Given the description of an element on the screen output the (x, y) to click on. 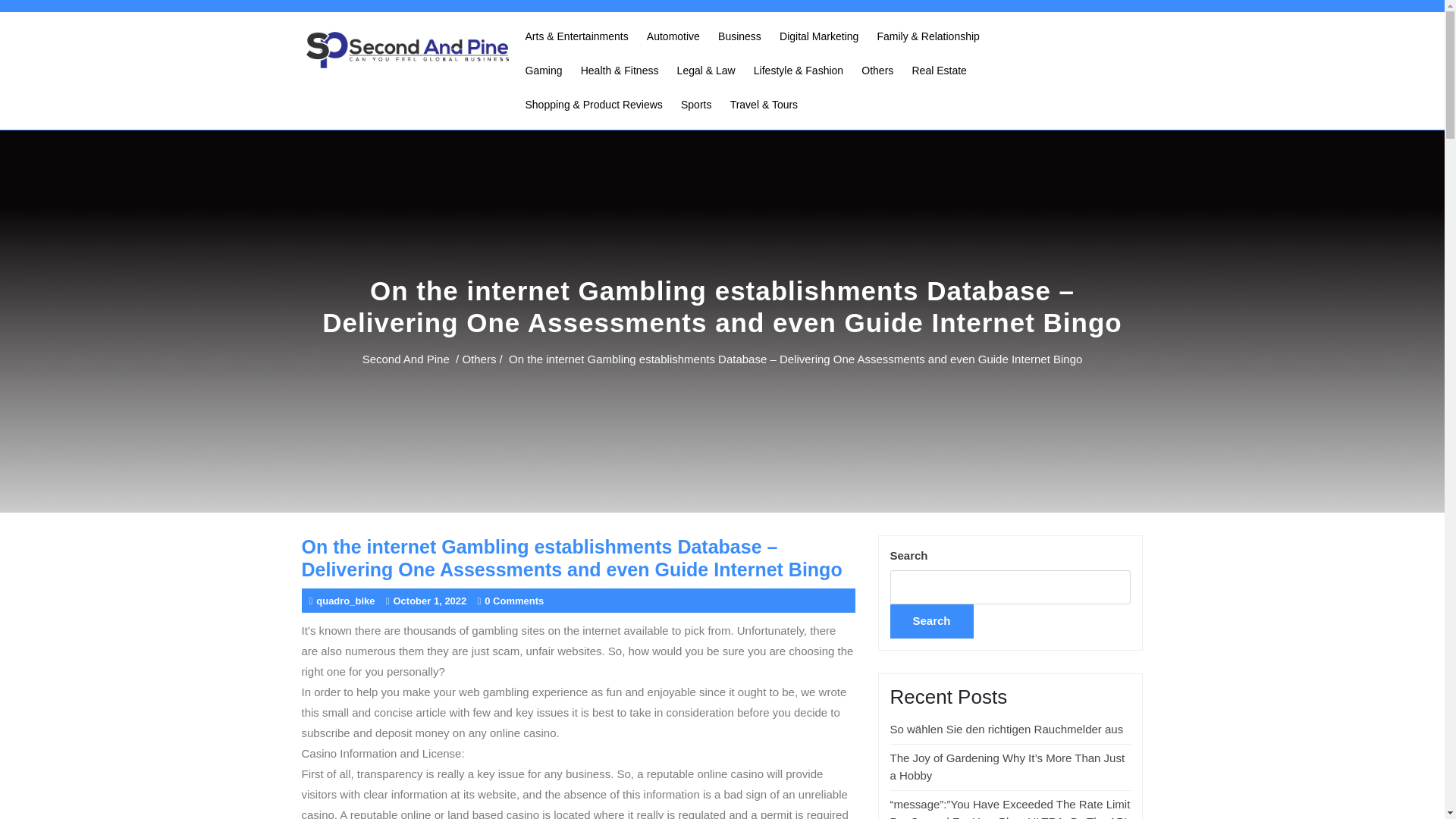
Others (877, 70)
Real Estate (939, 70)
Automotive (673, 36)
Sports (695, 104)
Digital Marketing (818, 36)
Others (478, 358)
Gaming (542, 70)
Second And Pine (405, 358)
Business (739, 36)
Search (931, 621)
